Given the description of an element on the screen output the (x, y) to click on. 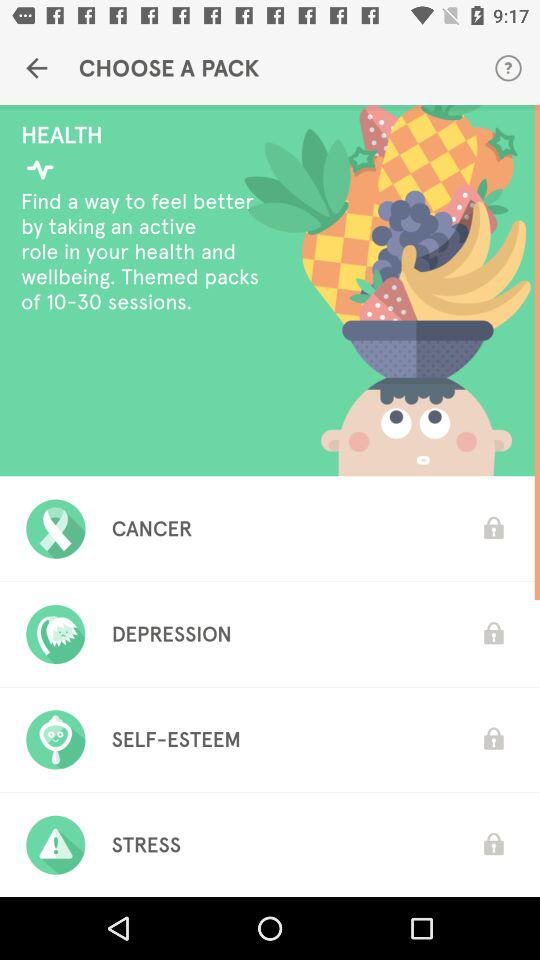
select self-esteem (176, 739)
